Given the description of an element on the screen output the (x, y) to click on. 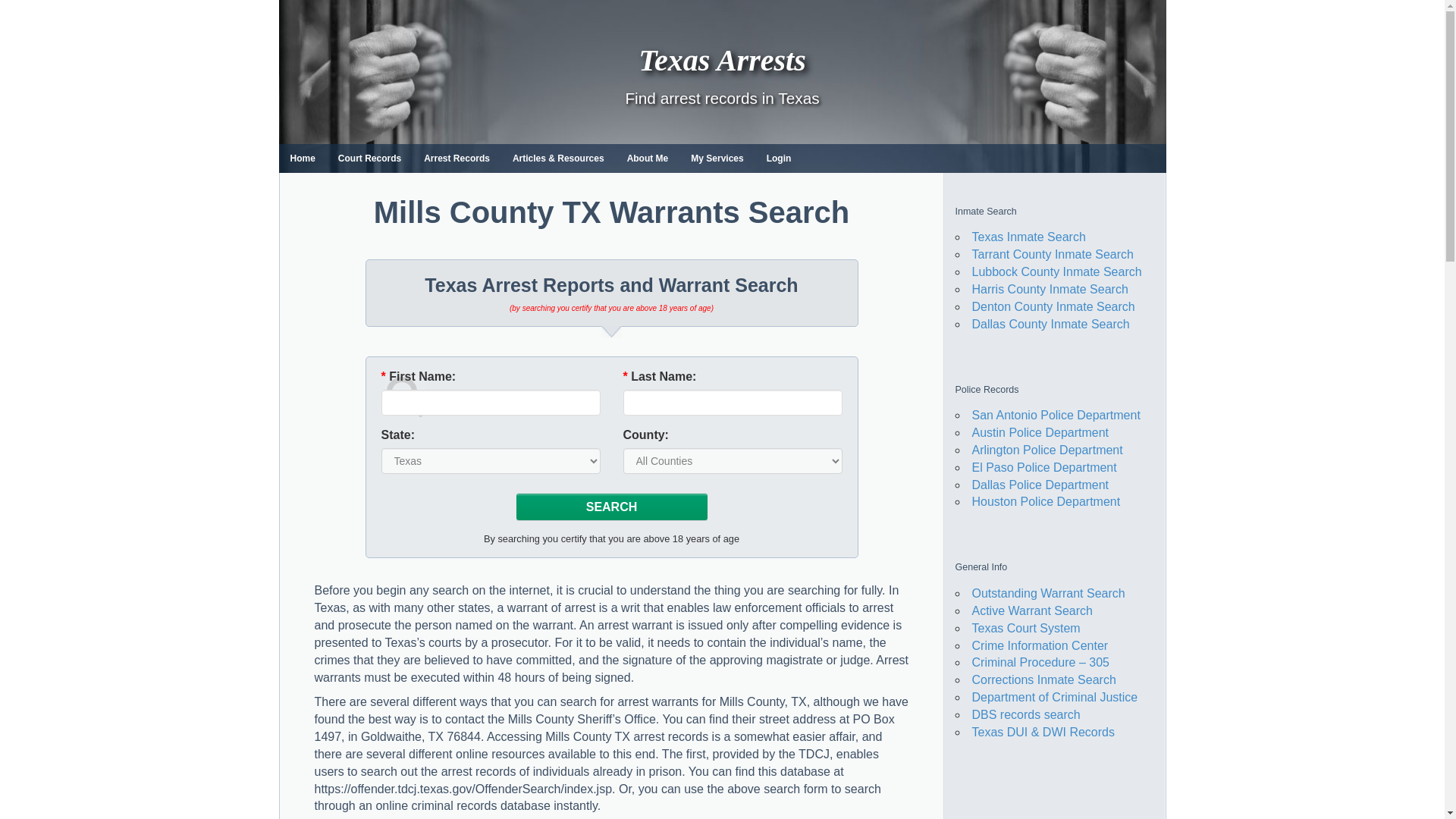
My Services (716, 158)
SEARCH (611, 506)
Home (302, 158)
Texas Arrests (722, 59)
Arrest Records (456, 158)
SEARCH (611, 506)
About Me (647, 158)
Court Records (369, 158)
Login (779, 158)
